Given the description of an element on the screen output the (x, y) to click on. 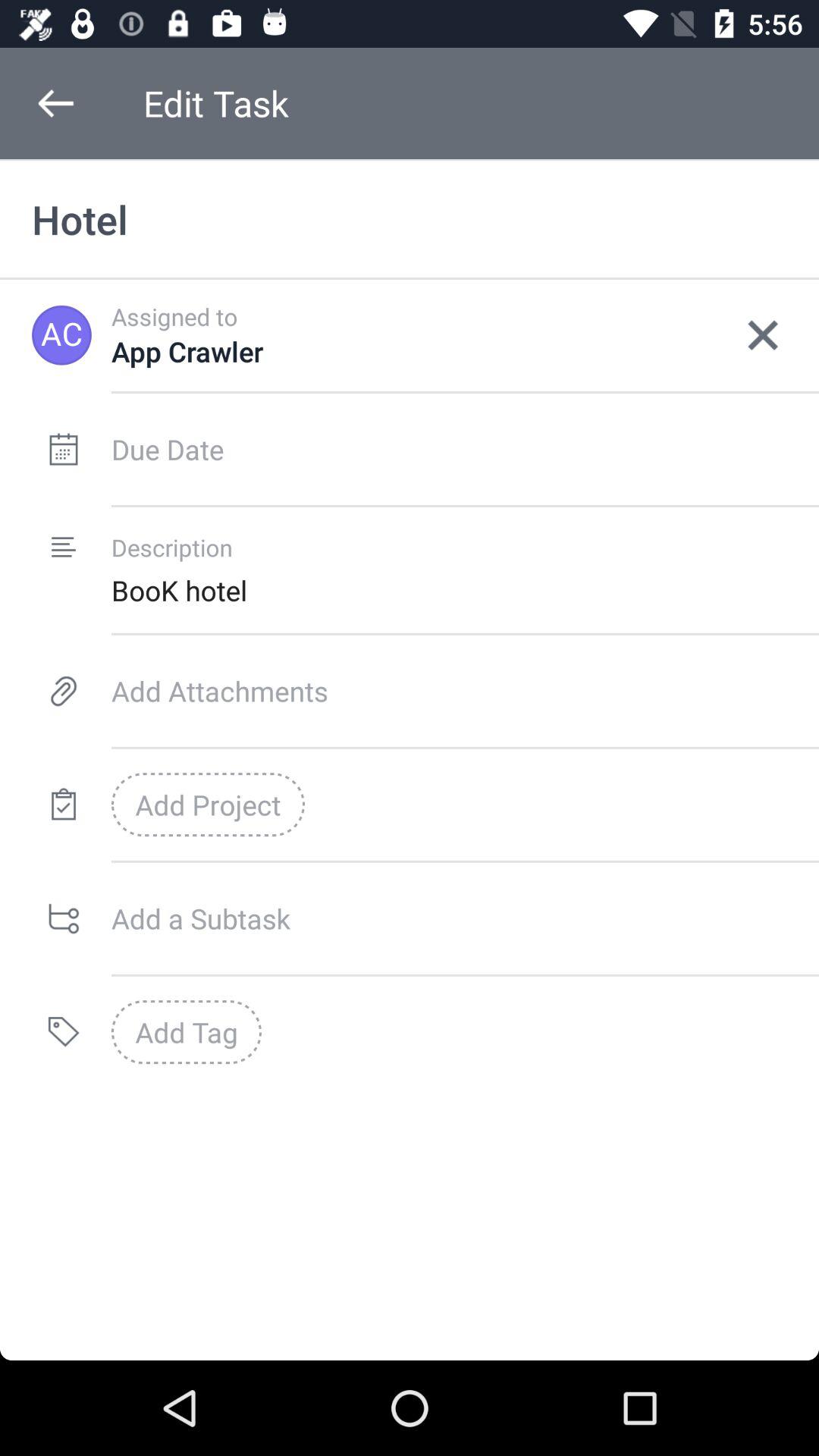
turn off the icon to the left of the edit task icon (55, 103)
